Given the description of an element on the screen output the (x, y) to click on. 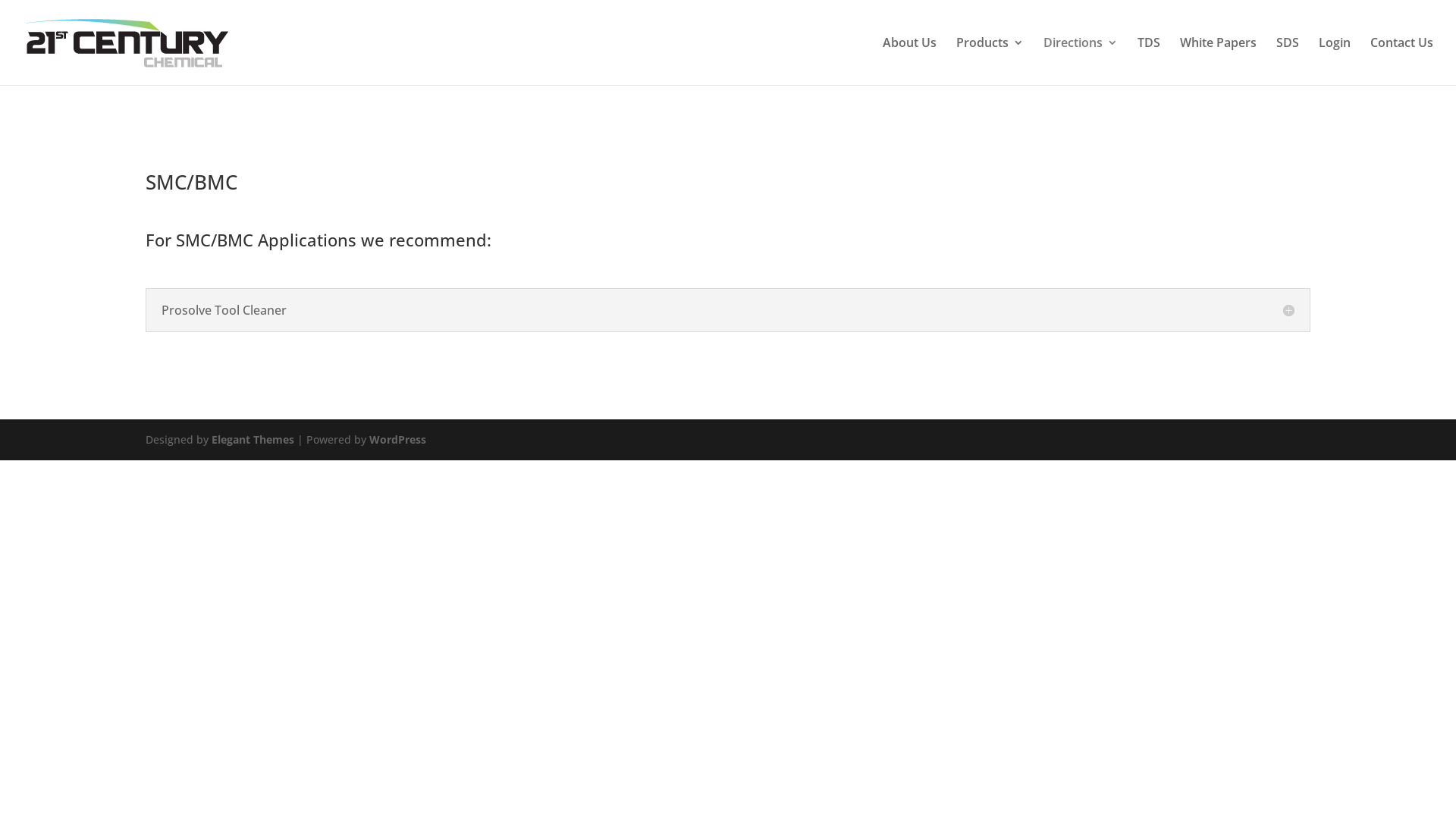
TDS Element type: text (1148, 60)
Contact Us Element type: text (1401, 60)
Products Element type: text (989, 60)
White Papers Element type: text (1217, 60)
Elegant Themes Element type: text (252, 439)
Login Element type: text (1334, 60)
WordPress Element type: text (397, 439)
SDS Element type: text (1287, 60)
About Us Element type: text (909, 60)
Directions Element type: text (1080, 60)
